Given the description of an element on the screen output the (x, y) to click on. 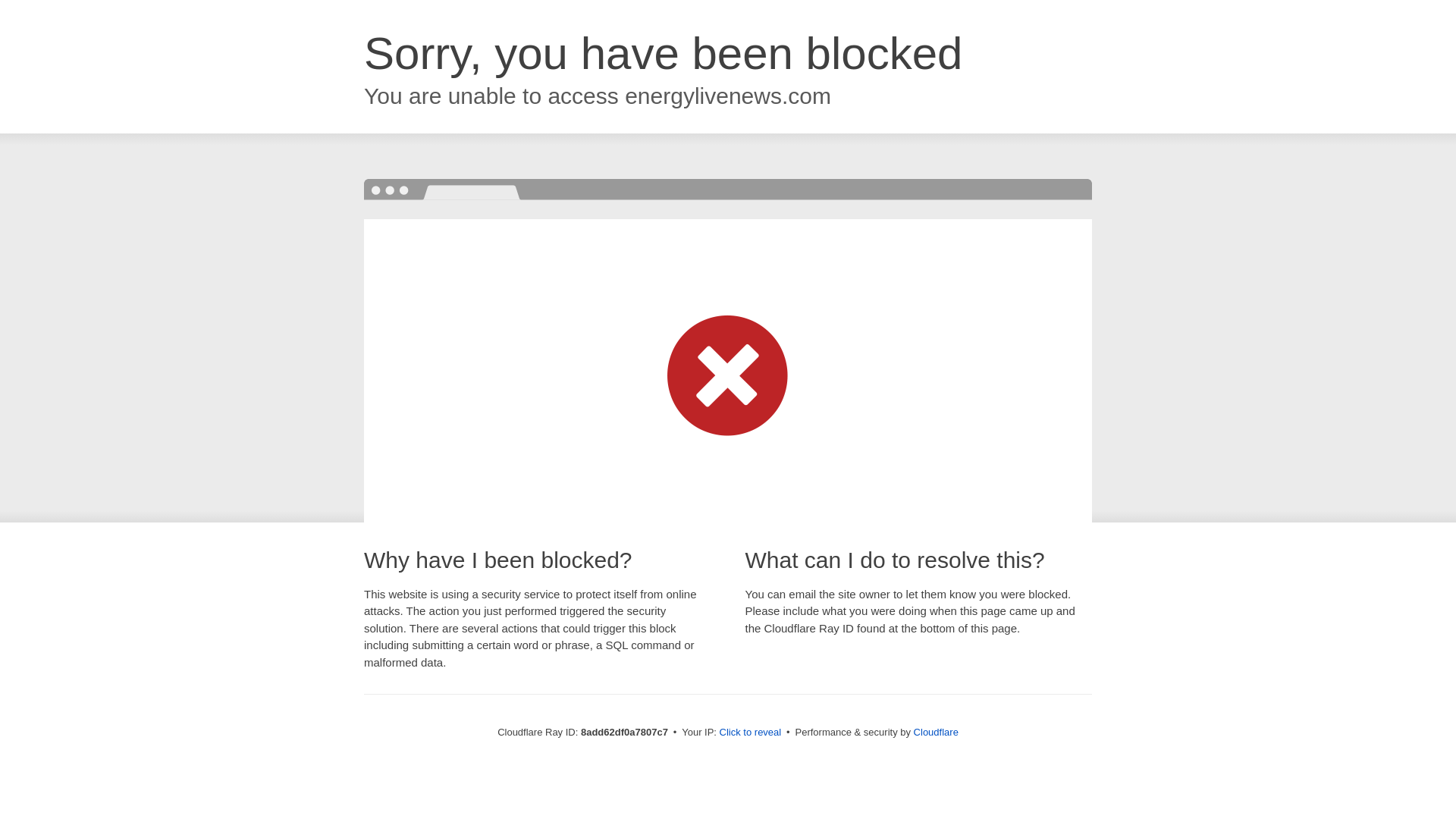
Cloudflare (936, 731)
Click to reveal (750, 732)
